Given the description of an element on the screen output the (x, y) to click on. 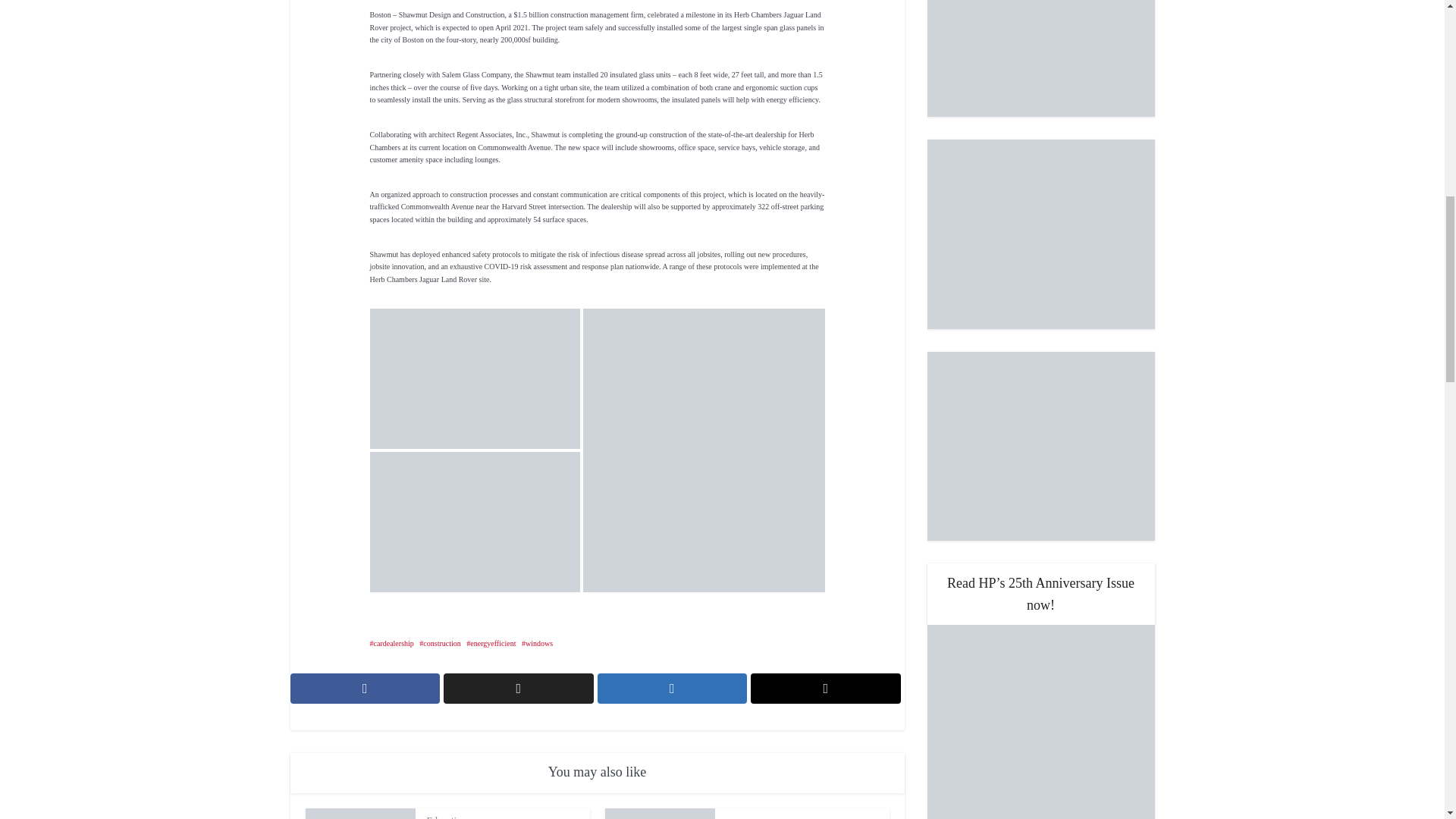
The Annual Green Supplement 2020 is Live! (1040, 58)
